Given the description of an element on the screen output the (x, y) to click on. 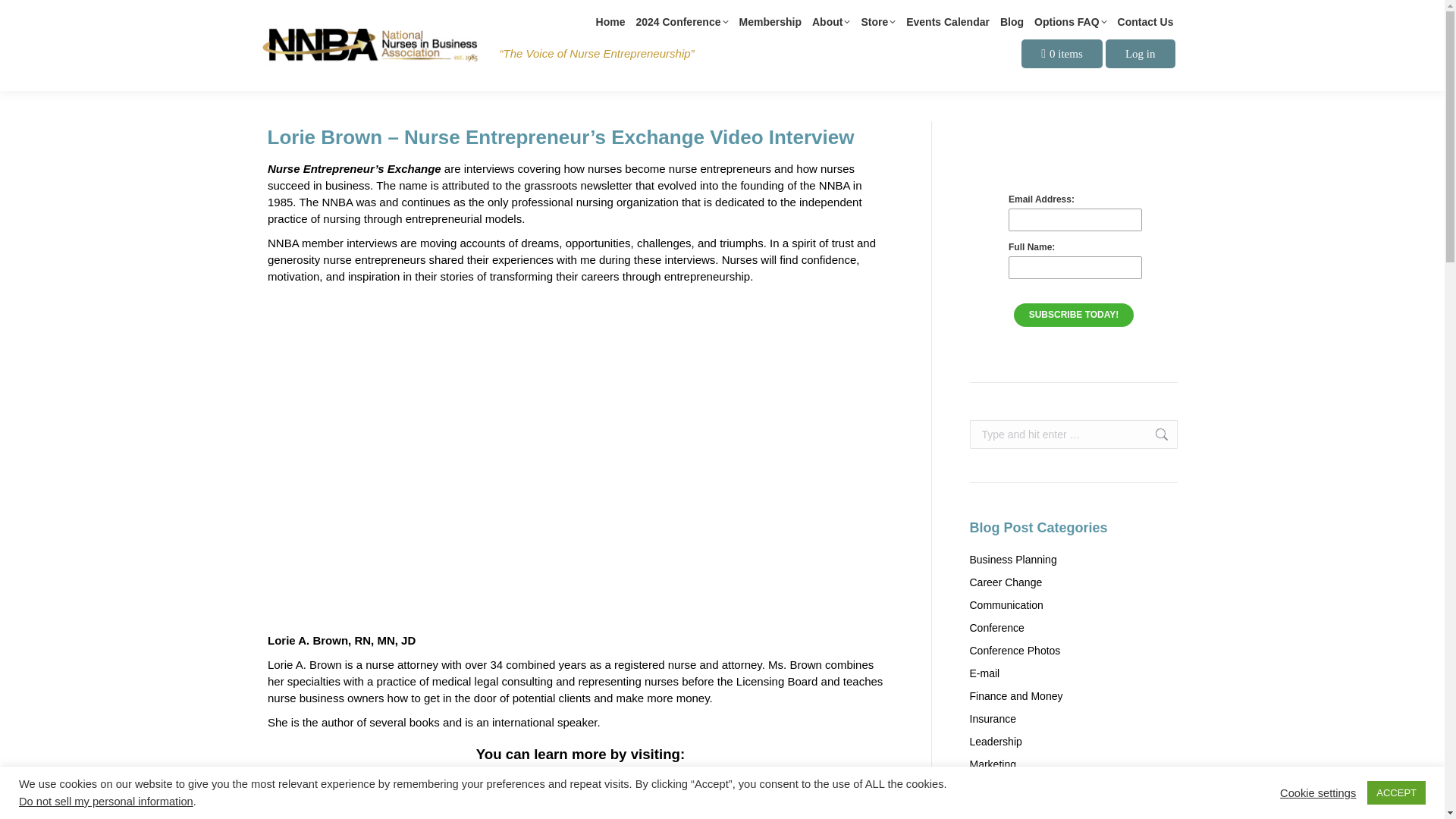
About (830, 23)
Options FAQ (1070, 23)
Your Cart (1062, 53)
Go! (1153, 434)
Events Calendar (947, 23)
2024 Conference (681, 23)
Store (877, 23)
Log in (1139, 53)
Home (610, 23)
Blog (1011, 23)
Membership (769, 23)
Go! (1153, 434)
